Given the description of an element on the screen output the (x, y) to click on. 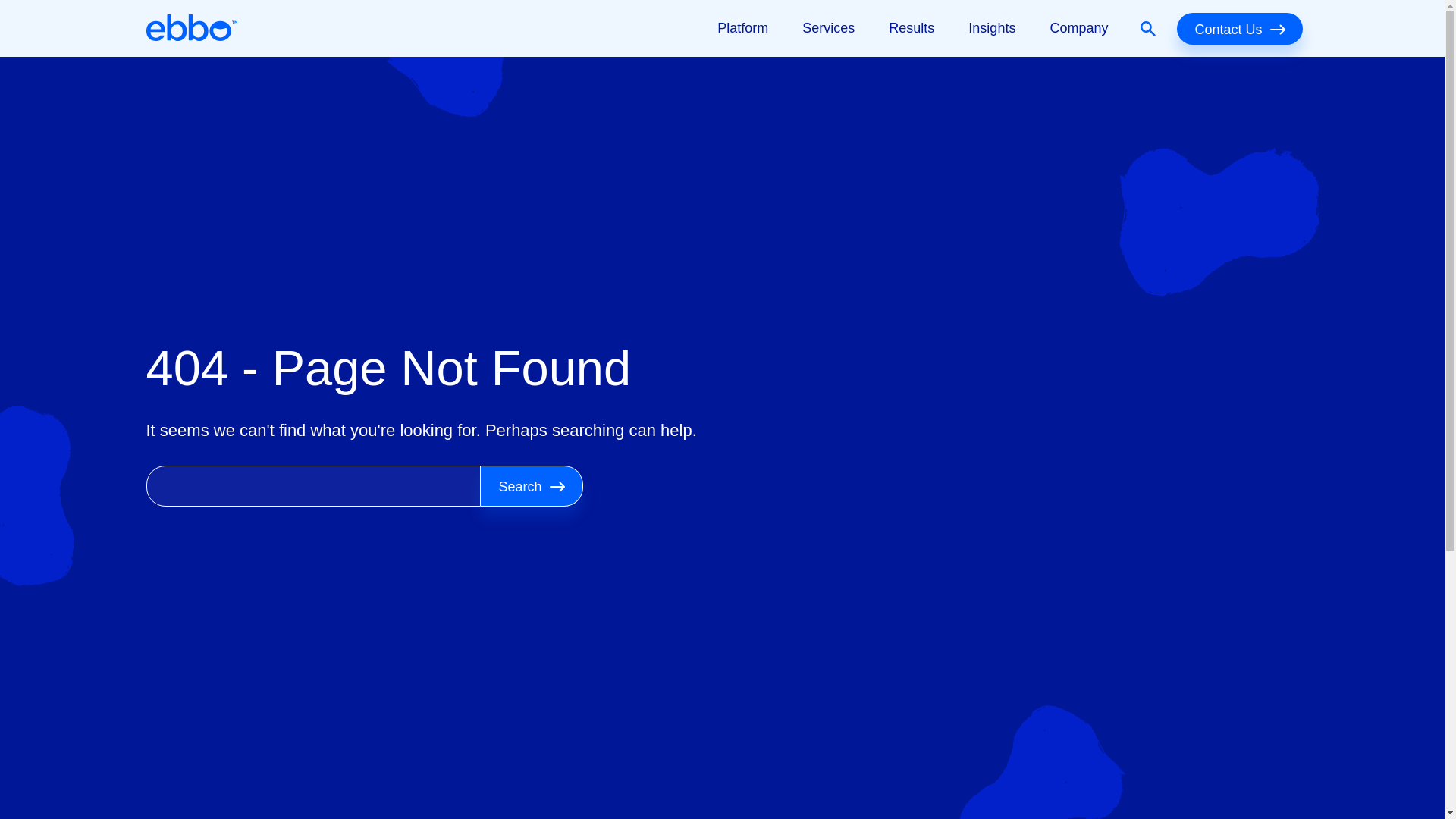
Results (910, 28)
Insights (991, 28)
Platform (742, 28)
Company (1078, 28)
Services (828, 28)
Home (190, 27)
